Given the description of an element on the screen output the (x, y) to click on. 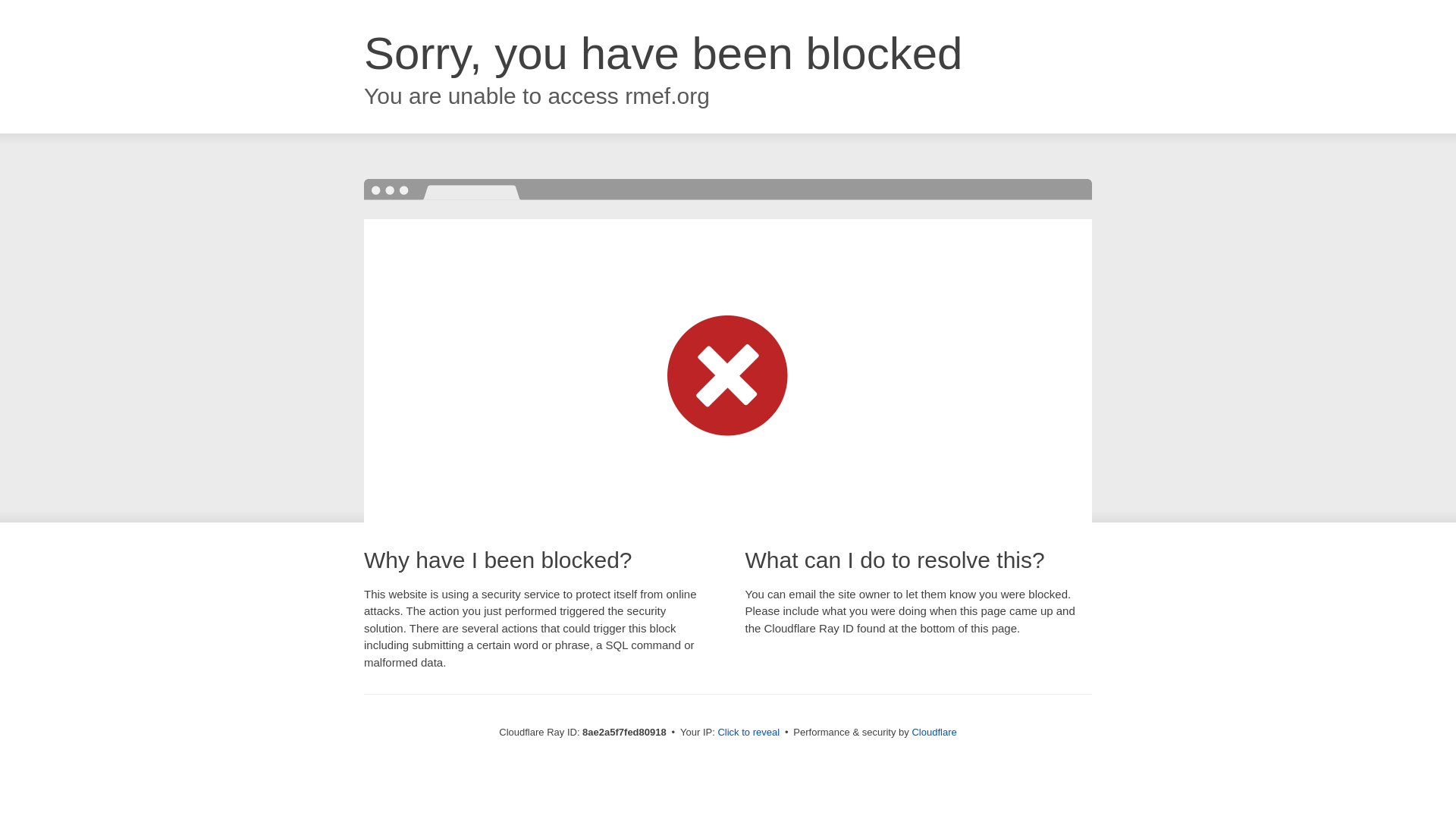
Cloudflare (933, 731)
Click to reveal (747, 732)
